Given the description of an element on the screen output the (x, y) to click on. 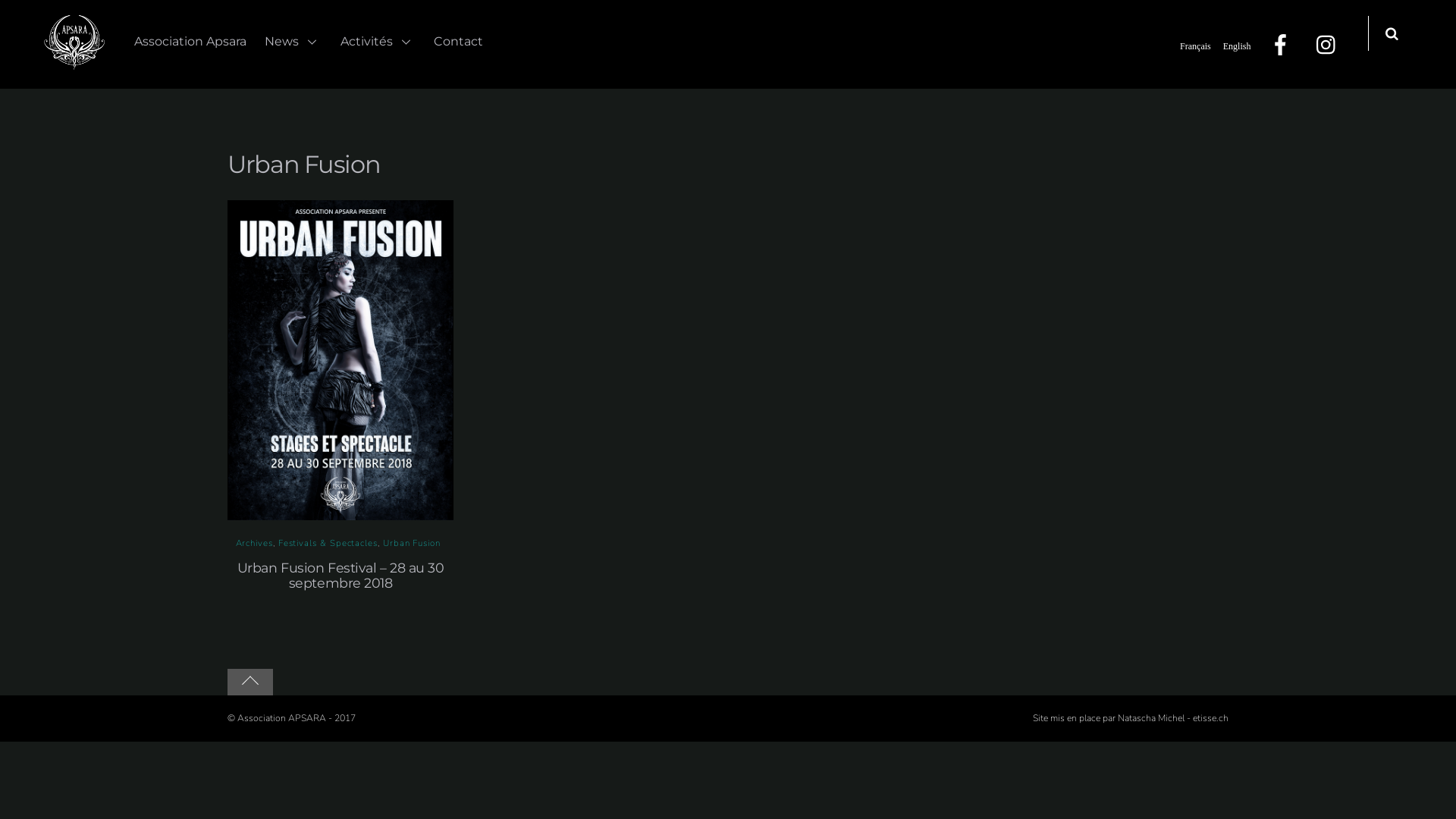
Natascha Michel - etisse.ch Element type: text (1172, 718)
Festivals & Spectacles Element type: text (327, 542)
News Element type: text (293, 43)
Association Apsara Element type: text (190, 43)
Archives Element type: text (253, 542)
Association Apsara Element type: hover (73, 62)
Back to top Element type: text (250, 681)
Contact Element type: text (458, 43)
English Element type: text (1237, 46)
Logo Association Apsara Element type: hover (73, 42)
Urban Fusion Element type: text (411, 542)
